Given the description of an element on the screen output the (x, y) to click on. 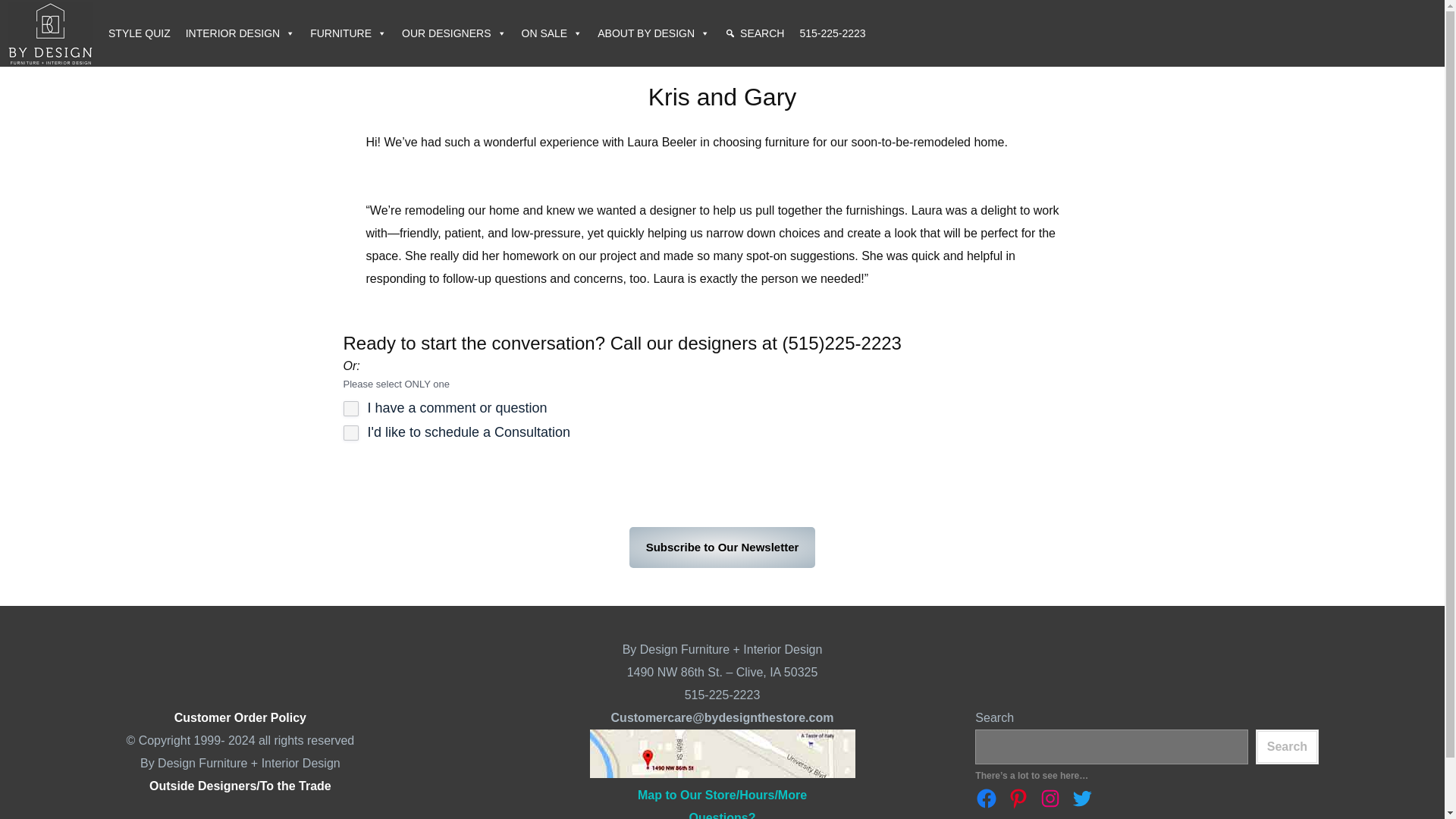
I'd like to schedule a Consultation (350, 432)
INTERIOR DESIGN (239, 33)
FURNITURE (348, 33)
I have a comment or question (350, 408)
OUR DESIGNERS (453, 33)
STYLE QUIZ (138, 33)
